Given the description of an element on the screen output the (x, y) to click on. 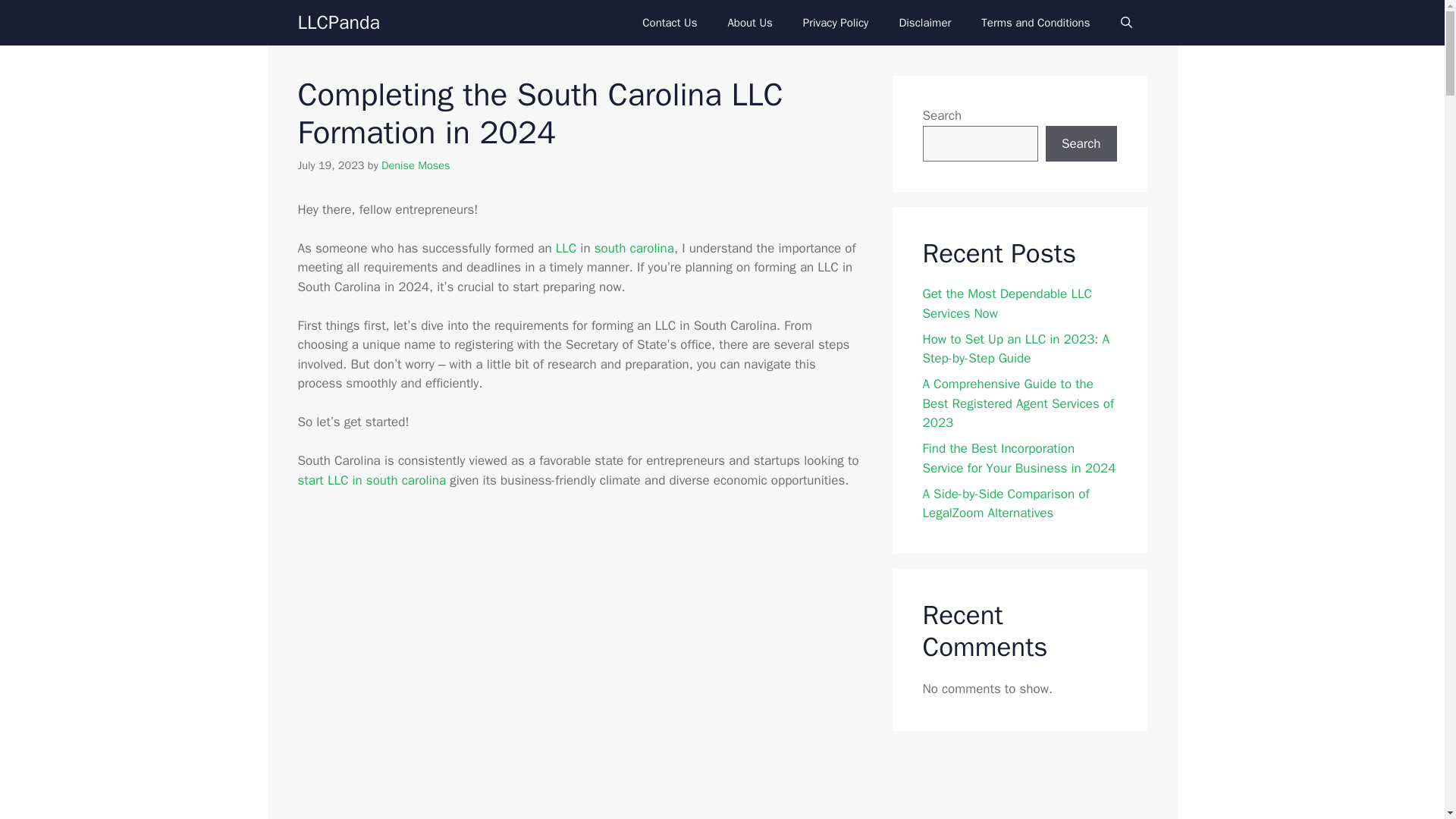
About Us (749, 22)
Privacy Policy (835, 22)
start LLC in south carolina (371, 480)
Disclaimer (924, 22)
LLC (566, 248)
How to Set Up an LLC in 2023: A Step-by-Step Guide (566, 248)
Contact Us (669, 22)
LLCPanda (337, 22)
Terms and Conditions (1035, 22)
south carolina (634, 248)
View all posts by Denise Moses (415, 164)
Denise Moses (415, 164)
